Given the description of an element on the screen output the (x, y) to click on. 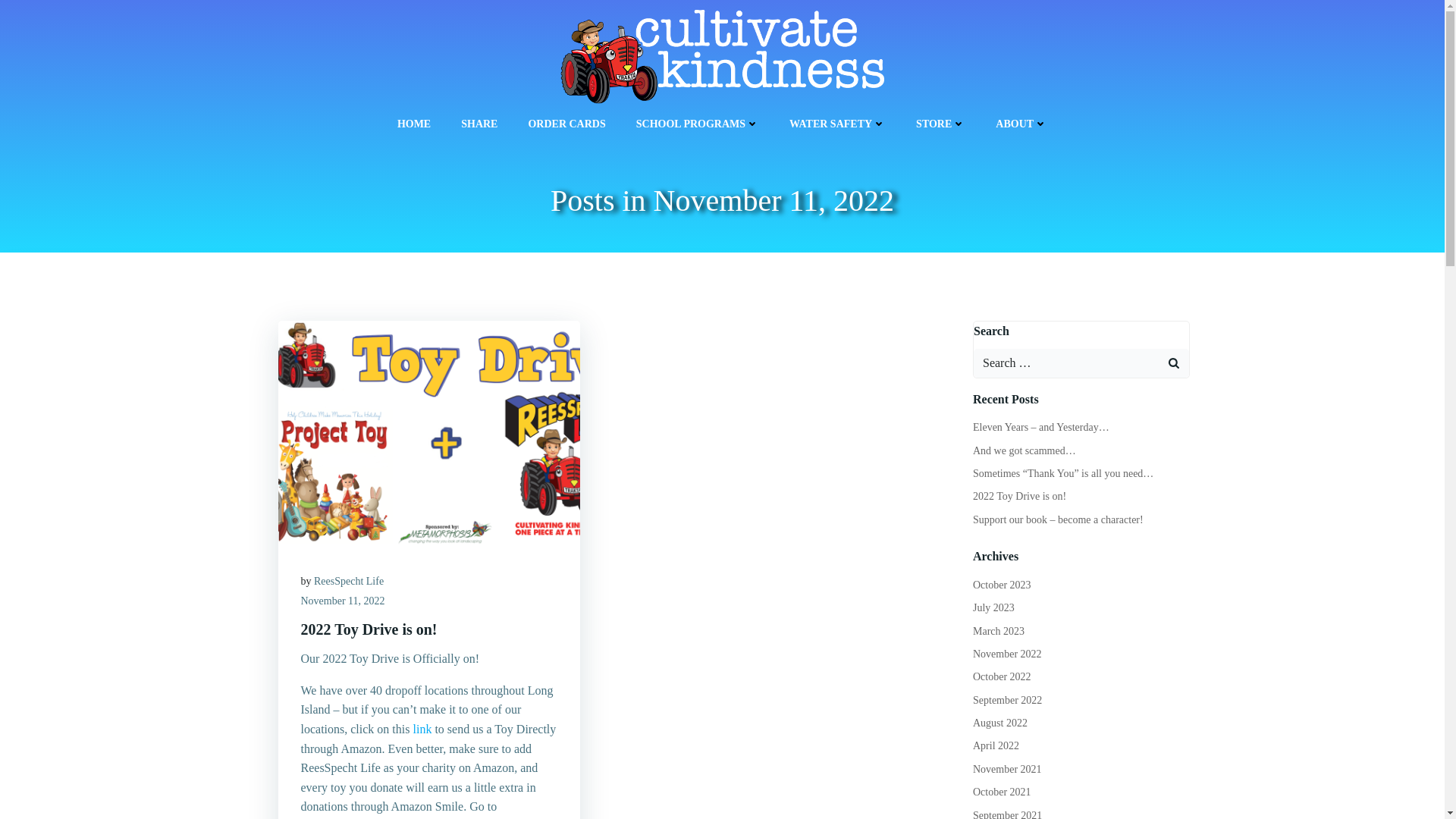
2022 Toy Drive is on! (427, 629)
November 2021 (1007, 768)
October 2021 (1001, 791)
SCHOOL PROGRAMS (697, 123)
SHARE (479, 123)
ReesSpecht Life (349, 581)
HOME (413, 123)
July 2023 (993, 607)
November 11, 2022 (341, 600)
Search  (29, 14)
link (421, 728)
ABOUT (1020, 123)
ORDER CARDS (566, 123)
April 2022 (995, 745)
October 2023 (1001, 584)
